Given the description of an element on the screen output the (x, y) to click on. 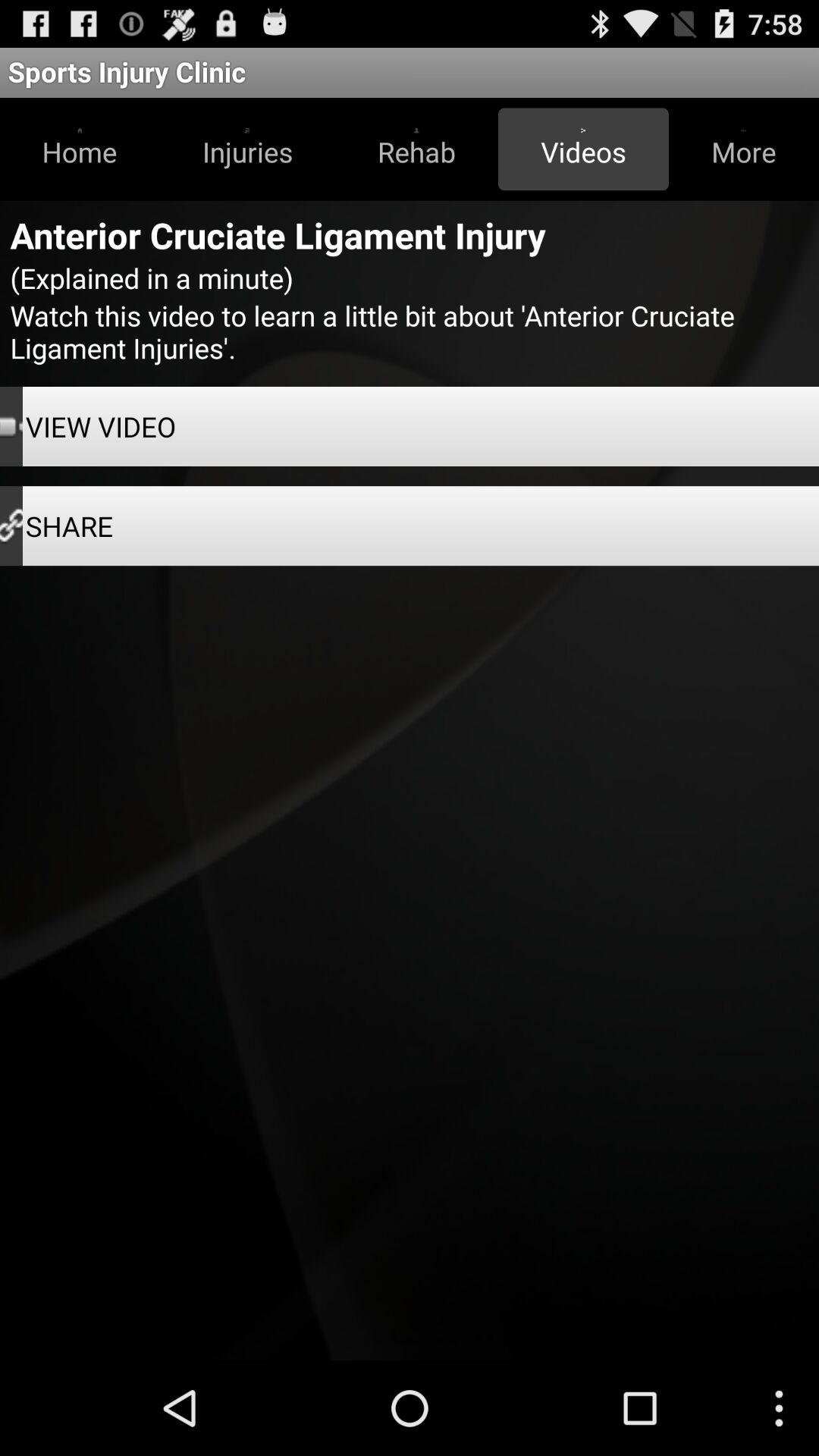
choose item below the sports injury clinic (583, 149)
